Given the description of an element on the screen output the (x, y) to click on. 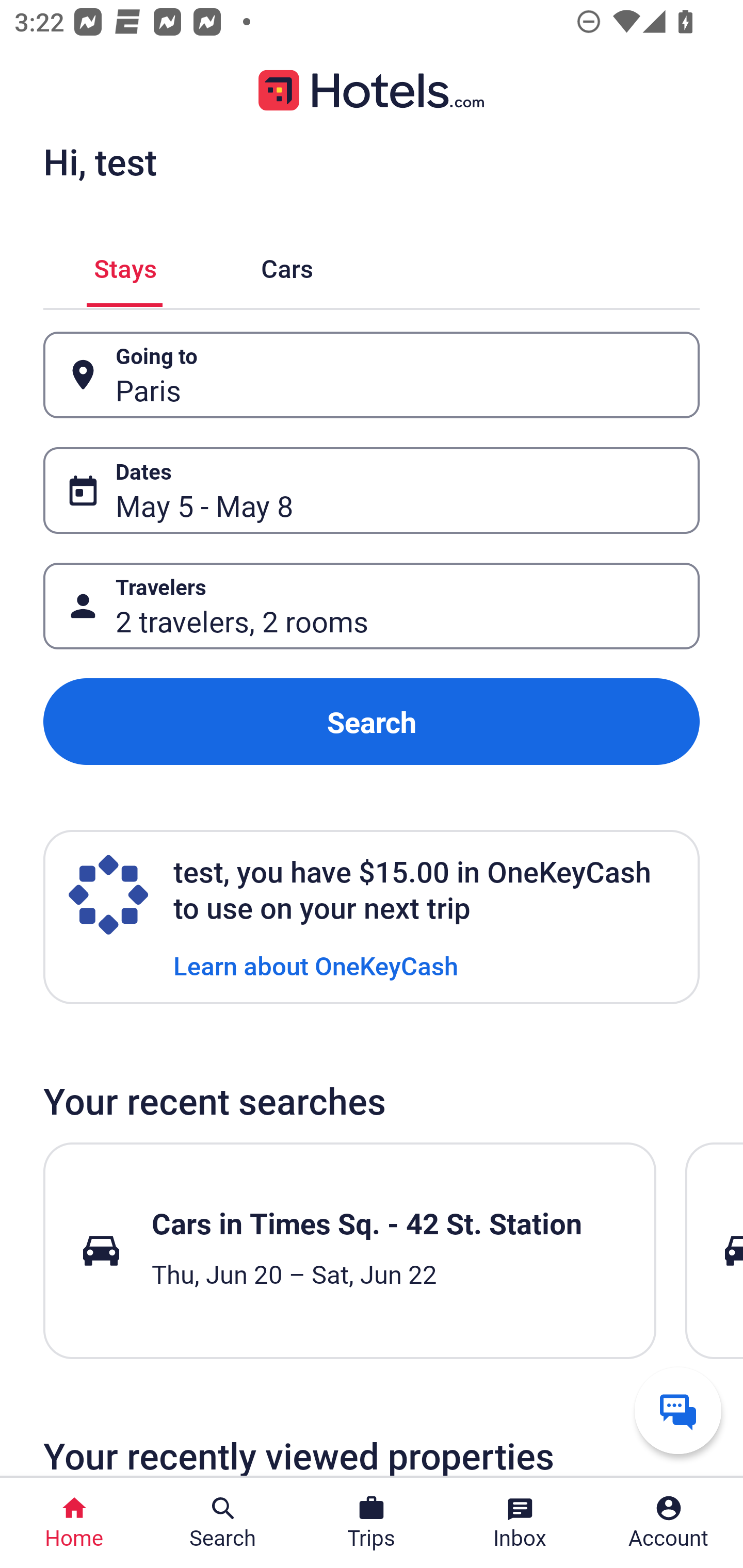
Hi, test (99, 161)
Cars (286, 265)
Going to Button Paris (371, 375)
Dates Button May 5 - May 8 (371, 489)
Travelers Button 2 travelers, 2 rooms (371, 605)
Search (371, 721)
Learn about OneKeyCash Learn about OneKeyCash Link (315, 964)
Get help from a virtual agent (677, 1410)
Search Search Button (222, 1522)
Trips Trips Button (371, 1522)
Inbox Inbox Button (519, 1522)
Account Profile. Button (668, 1522)
